Given the description of an element on the screen output the (x, y) to click on. 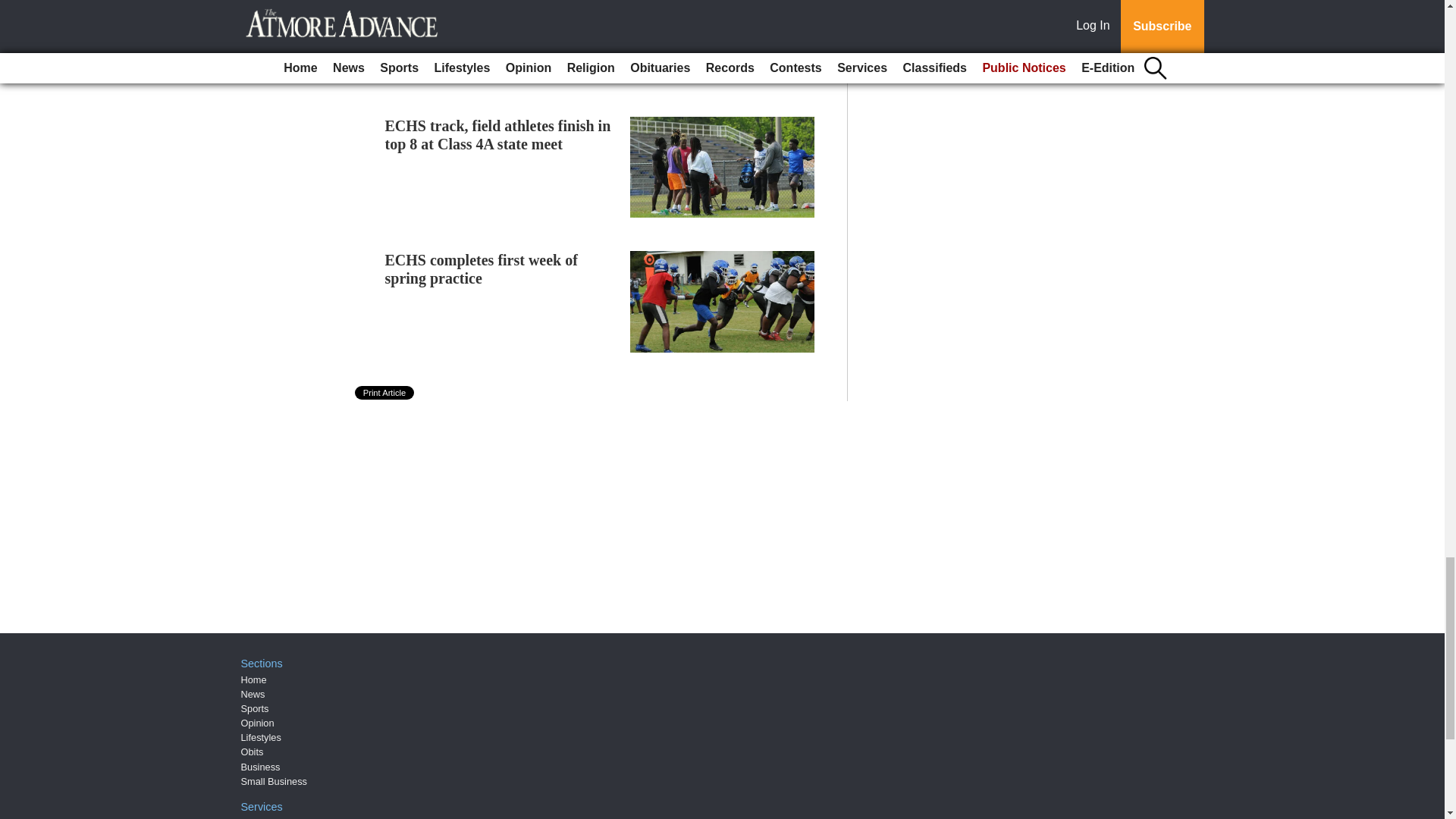
ECHS completes first week of spring practice (481, 268)
